Given the description of an element on the screen output the (x, y) to click on. 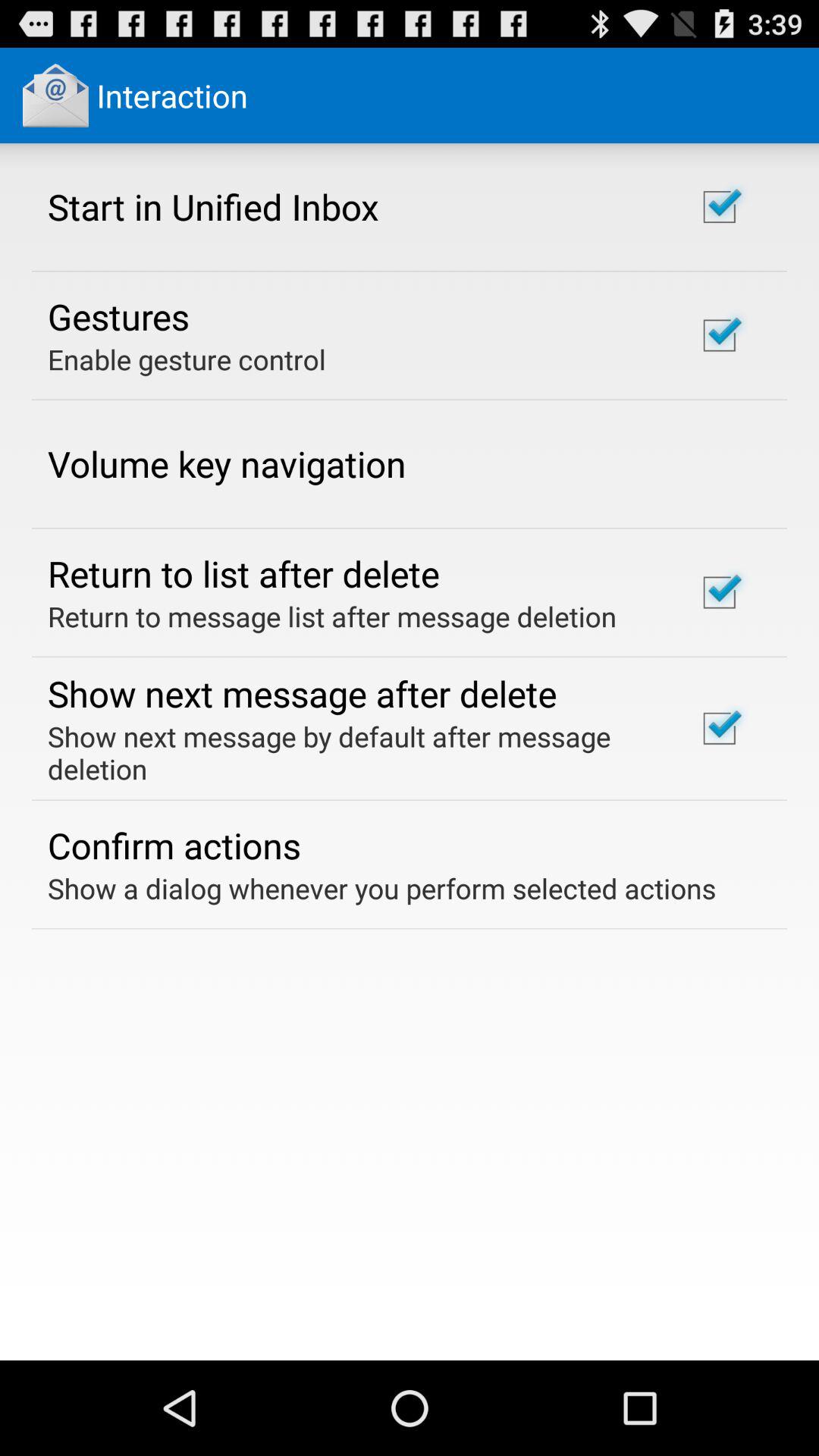
click gestures (118, 316)
